Given the description of an element on the screen output the (x, y) to click on. 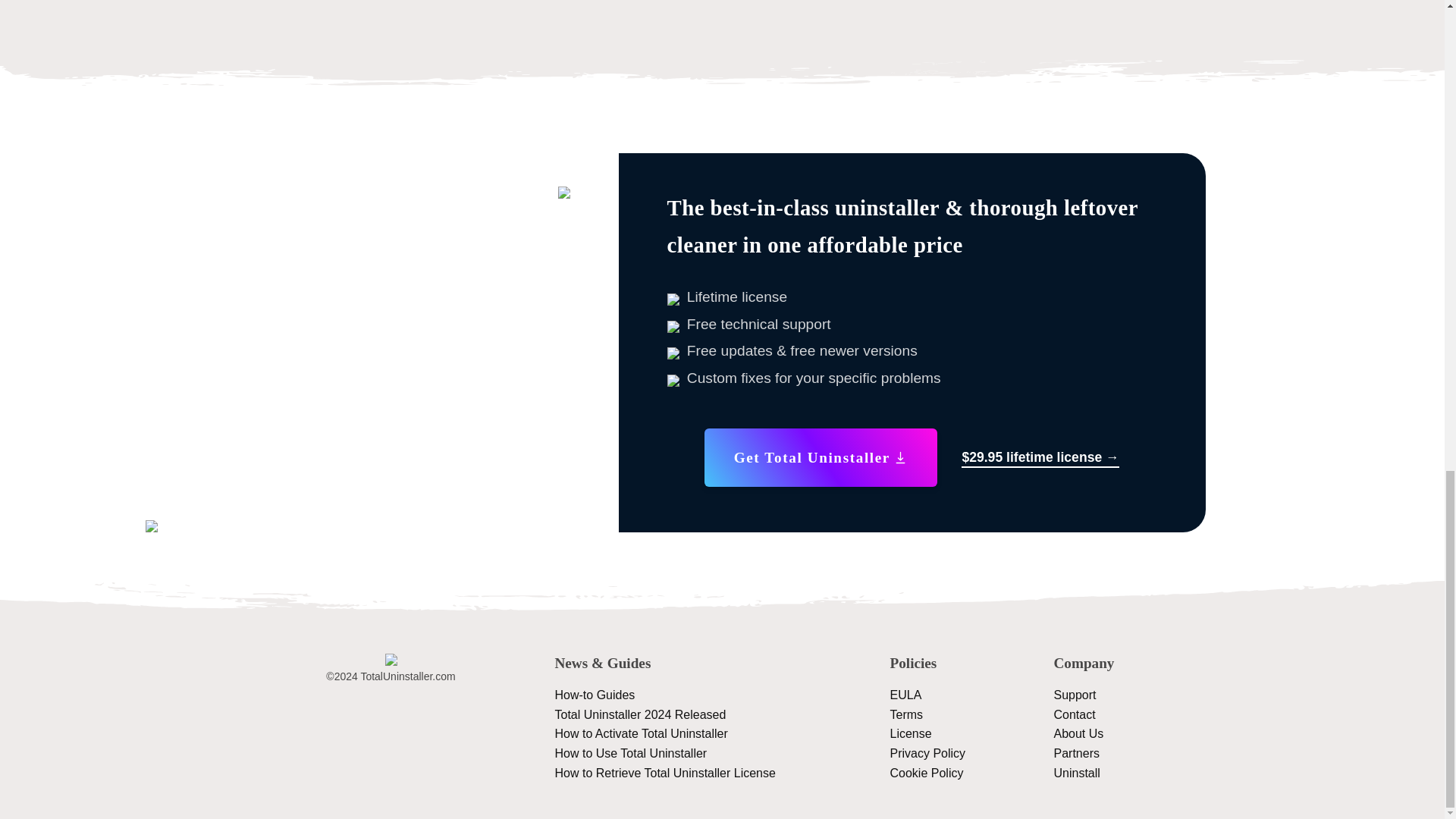
How to Activate Total Uninstaller (641, 733)
Cookie Policy (926, 772)
How to Use Total Uninstaller (630, 753)
Terms (906, 714)
Privacy Policy (927, 753)
Support (1075, 694)
EULA (905, 694)
License (910, 733)
How-to Guides (594, 694)
How to Retrieve Total Uninstaller License (665, 772)
Total Uninstaller 2024 Released (640, 714)
Contact (1075, 714)
Get Total Uninstaller (820, 457)
